Given the description of an element on the screen output the (x, y) to click on. 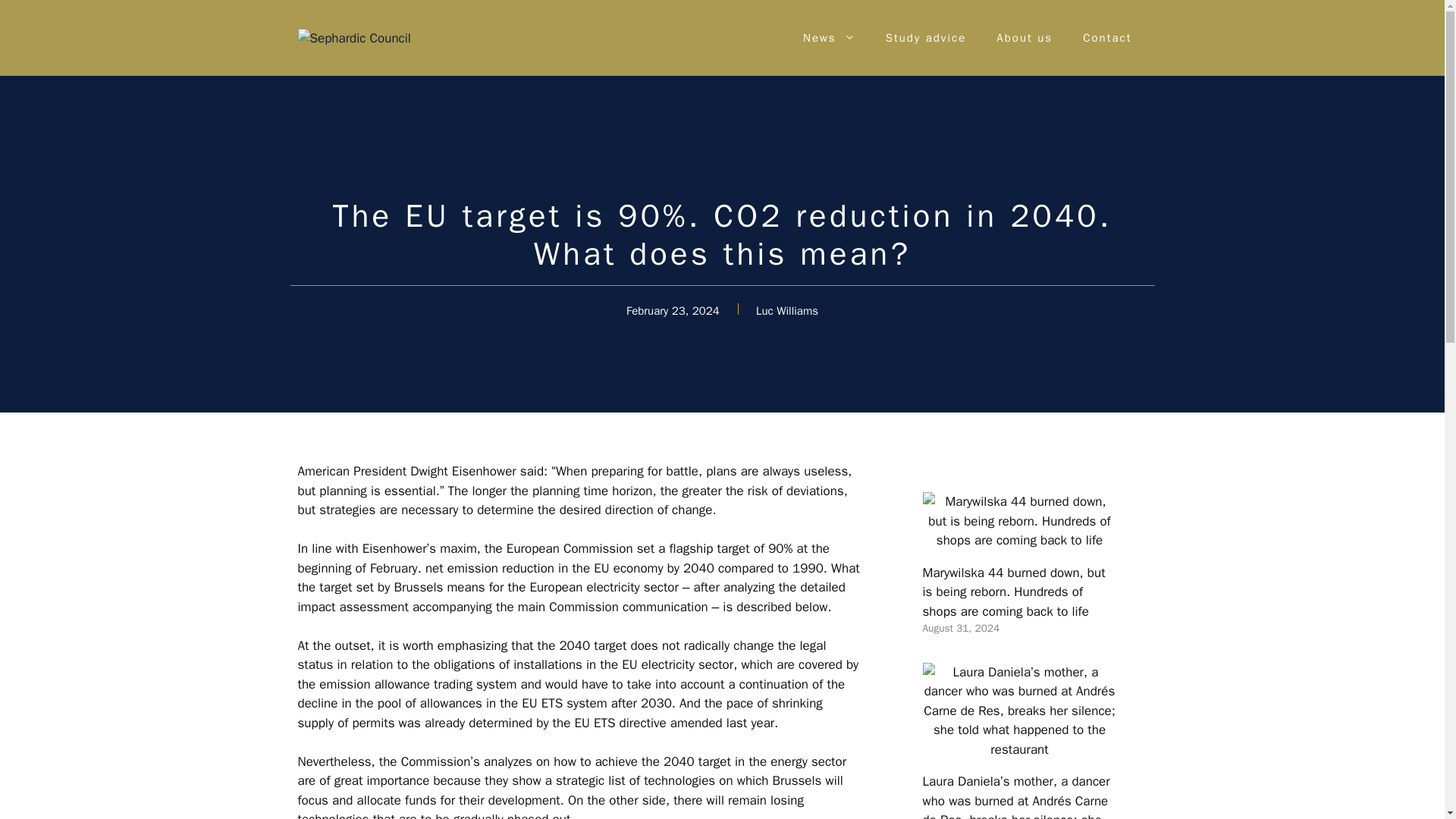
News (828, 37)
August 31, 2024 (959, 627)
About us (1024, 37)
11:40 am (959, 627)
Study advice (925, 37)
Contact (1107, 37)
